Given the description of an element on the screen output the (x, y) to click on. 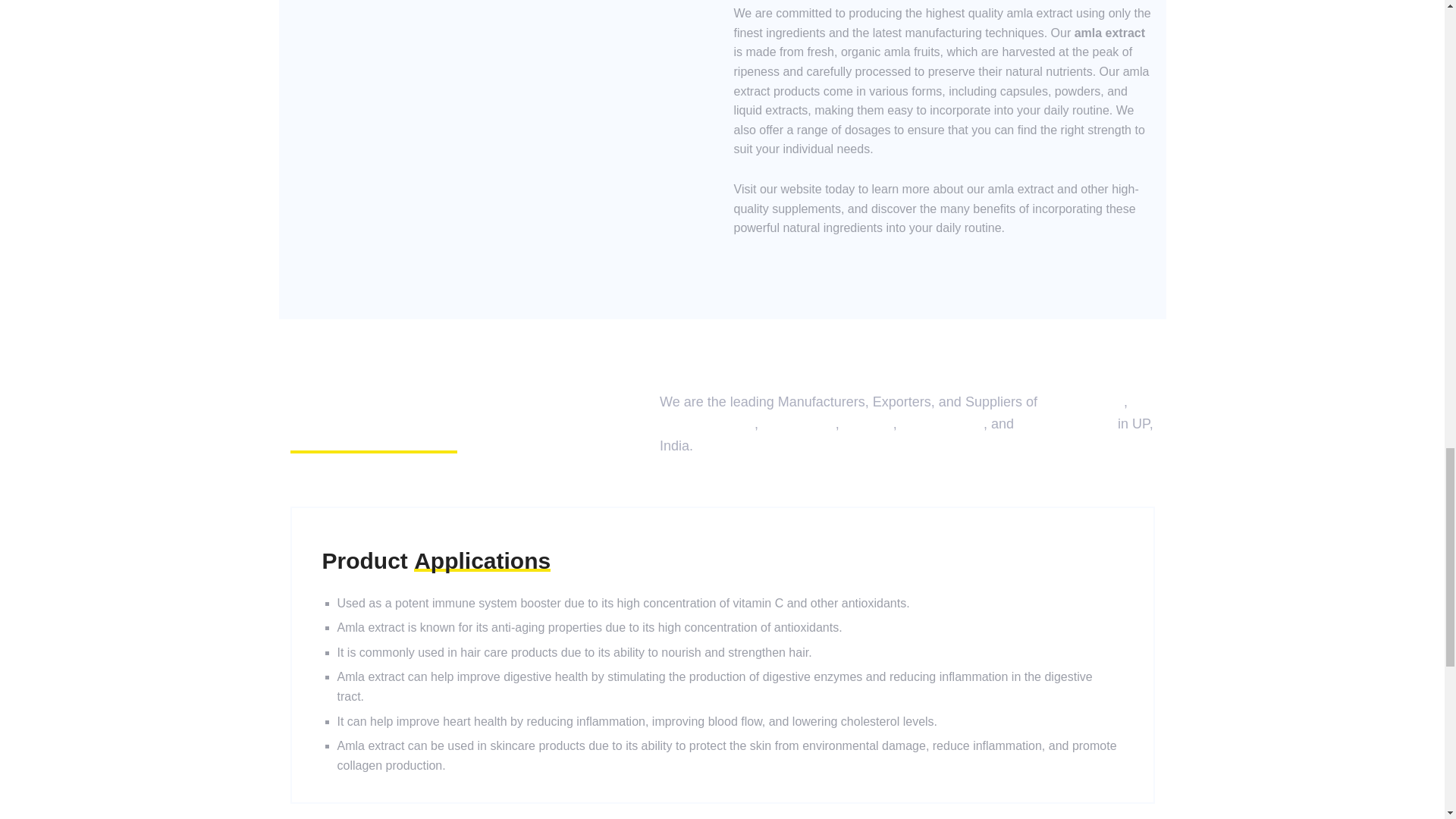
Basil Oil (868, 423)
Tea Tree Oil (798, 423)
Methyl Chavicol (1065, 423)
Cinnamon Oil (942, 423)
Menthol Crystal (706, 423)
Essential Oils (1082, 401)
